Given the description of an element on the screen output the (x, y) to click on. 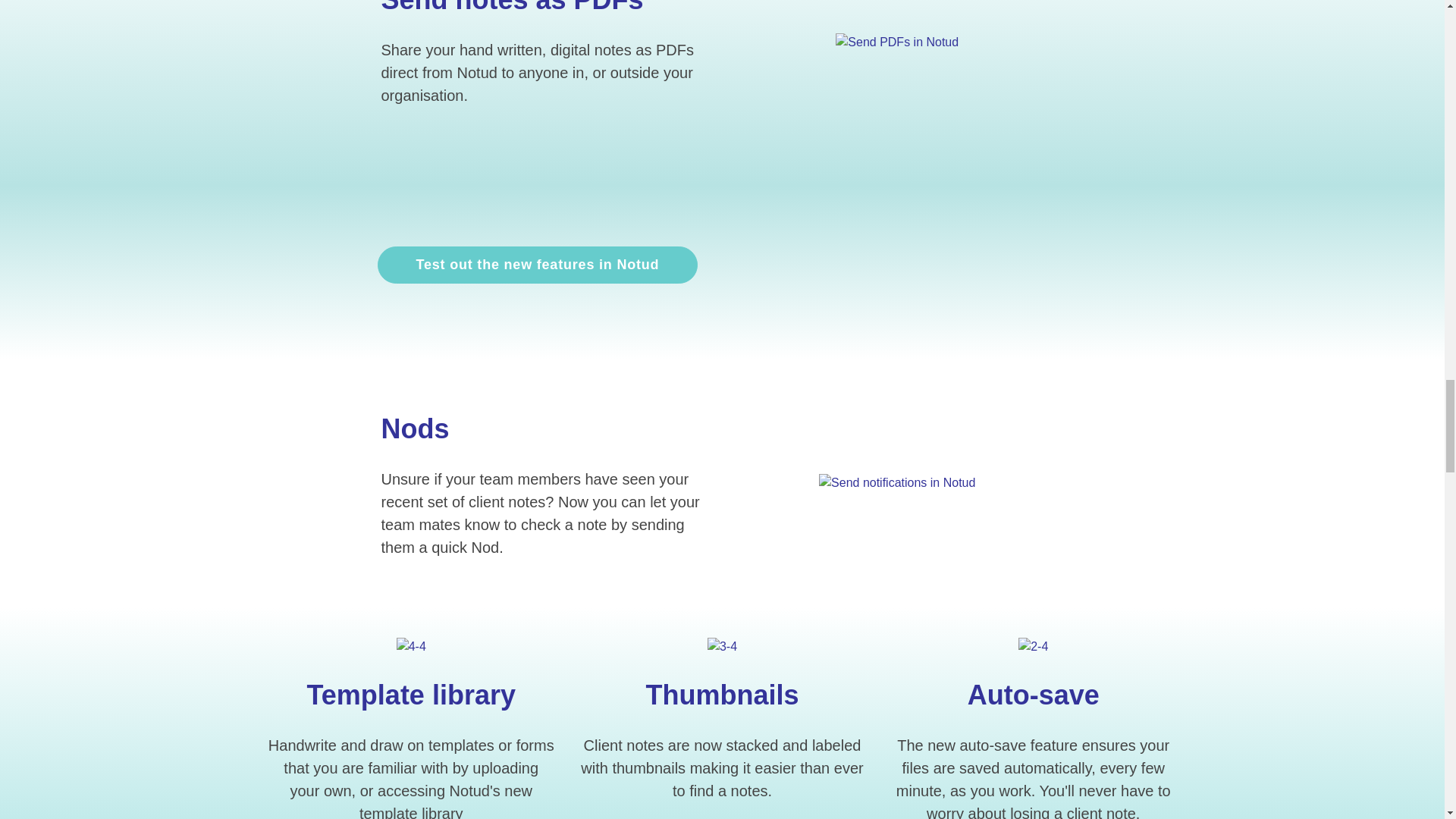
3-4 (721, 647)
Send PDFs in Notud (896, 42)
Test out the new features in Notud (537, 264)
Send notifications in Notud (896, 483)
4-4 (411, 647)
2-4 (1032, 647)
